Given the description of an element on the screen output the (x, y) to click on. 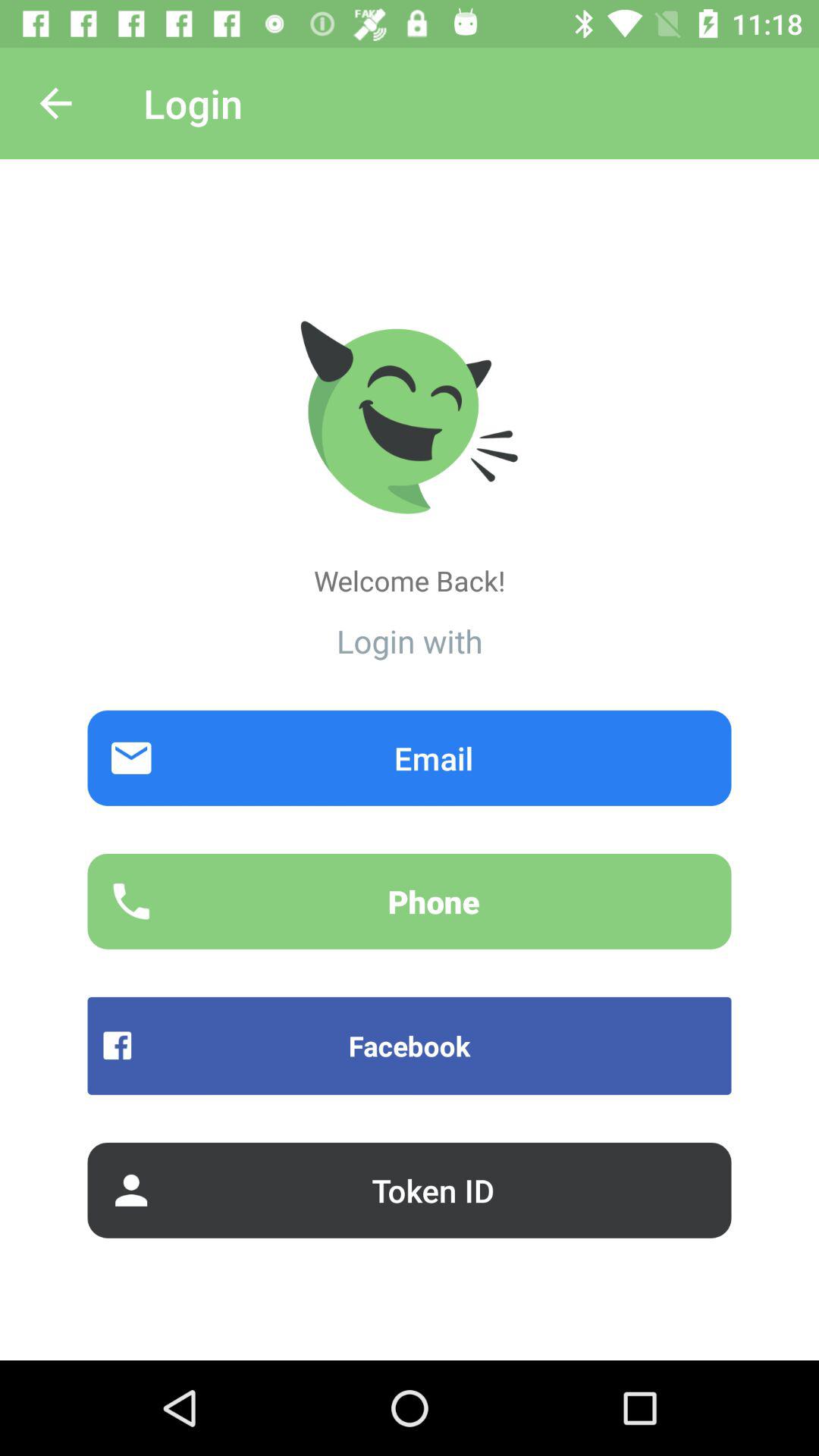
tap the icon below email item (409, 901)
